Given the description of an element on the screen output the (x, y) to click on. 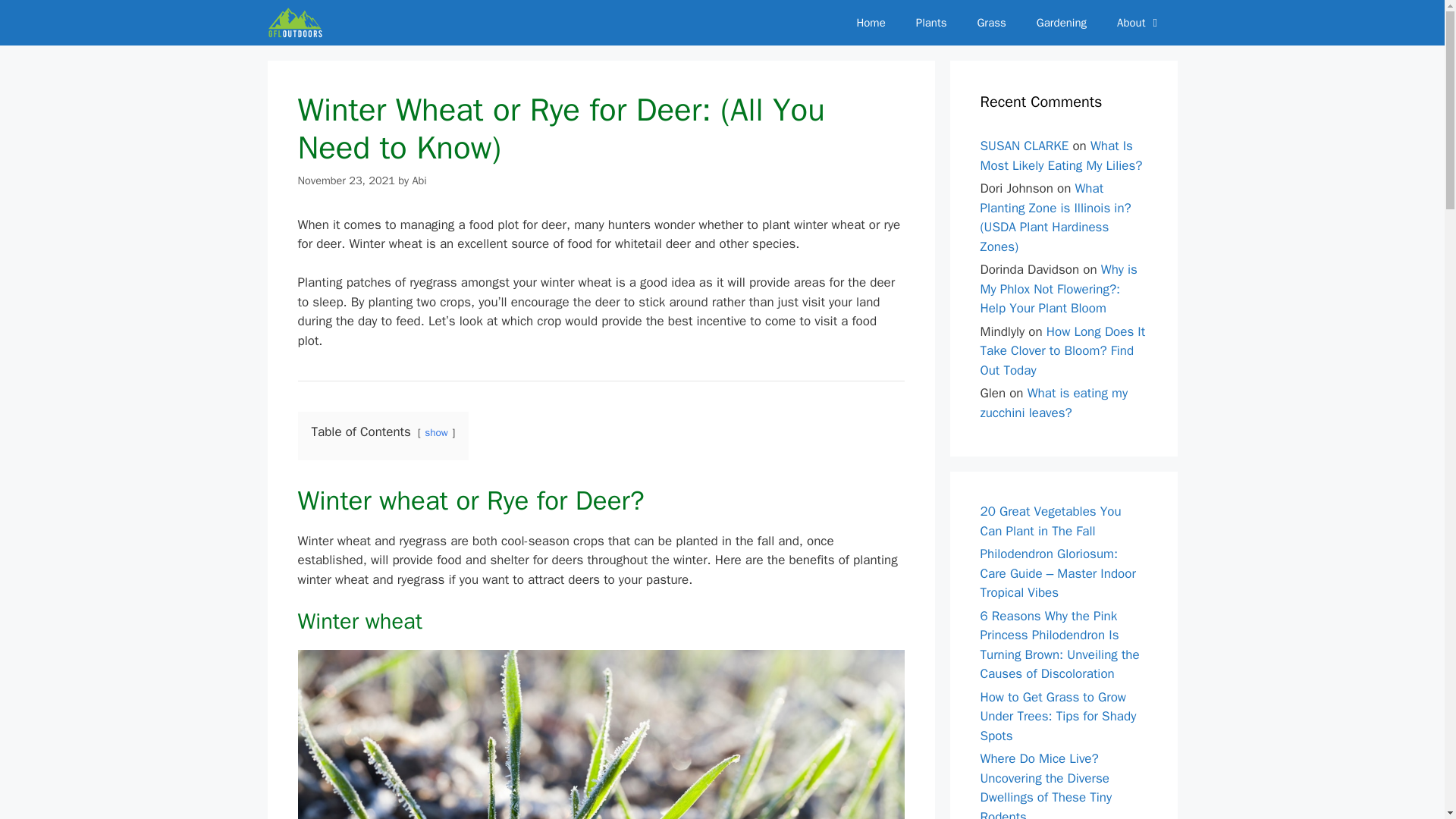
Abi (419, 180)
GFL Outdoors (293, 22)
Grass (990, 22)
What is eating my zucchini leaves? (1052, 402)
View all posts by Abi (419, 180)
show (436, 431)
Home (870, 22)
Plants (931, 22)
SUSAN CLARKE (1023, 145)
Why is My Phlox Not Flowering?: Help Your Plant Bloom (1058, 288)
Gardening (1062, 22)
GFL Outdoors (298, 22)
How to Get Grass to Grow Under Trees: Tips for Shady Spots (1057, 715)
